Given the description of an element on the screen output the (x, y) to click on. 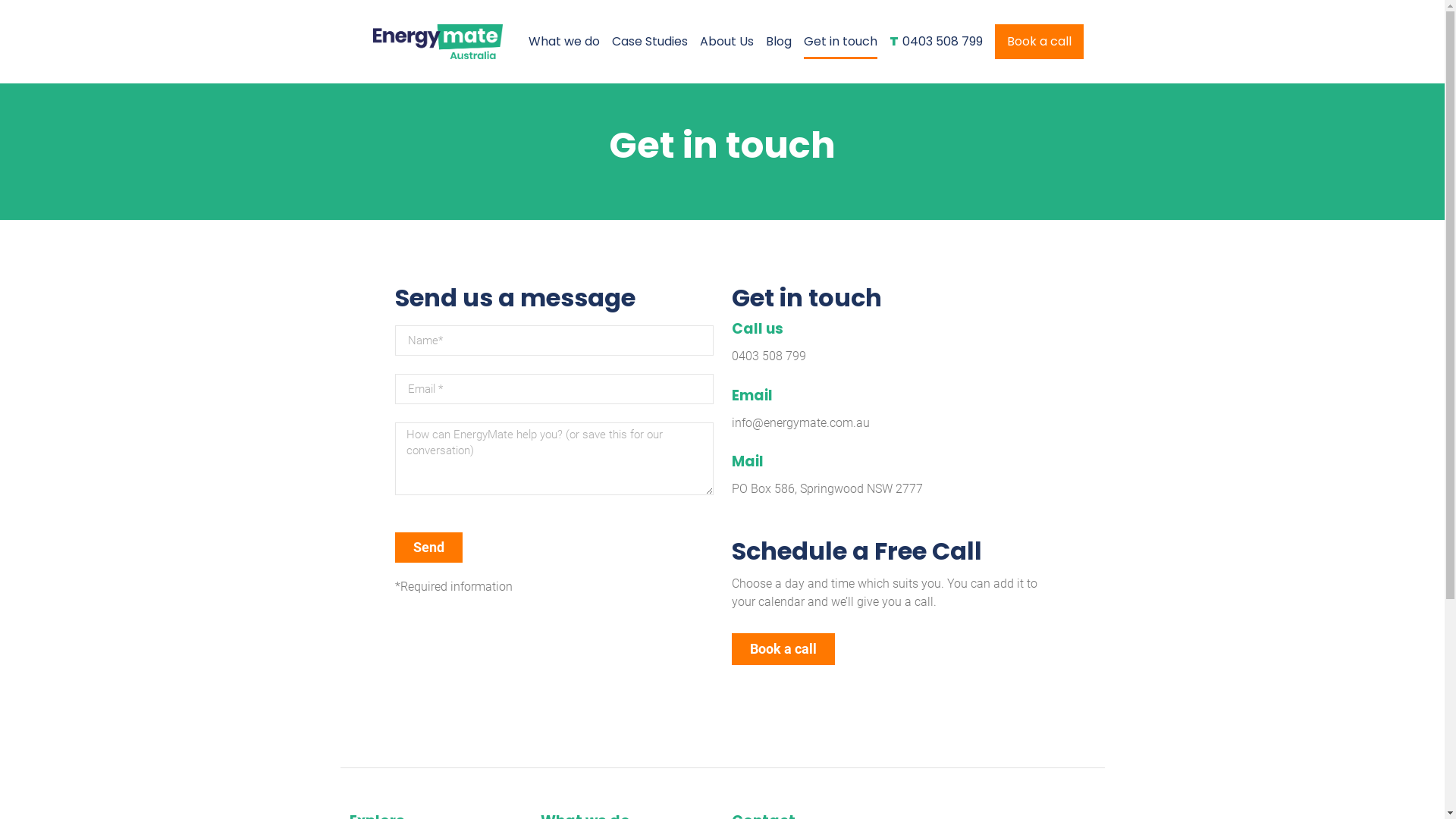
Send Element type: text (427, 547)
Book a call Element type: text (782, 649)
Blog Element type: text (778, 41)
Case Studies Element type: text (649, 41)
About Us Element type: text (726, 41)
What we do Element type: text (563, 41)
T
0403 508 799 Element type: text (935, 41)
Book a call Element type: text (1038, 41)
Get in touch Element type: text (840, 41)
